Given the description of an element on the screen output the (x, y) to click on. 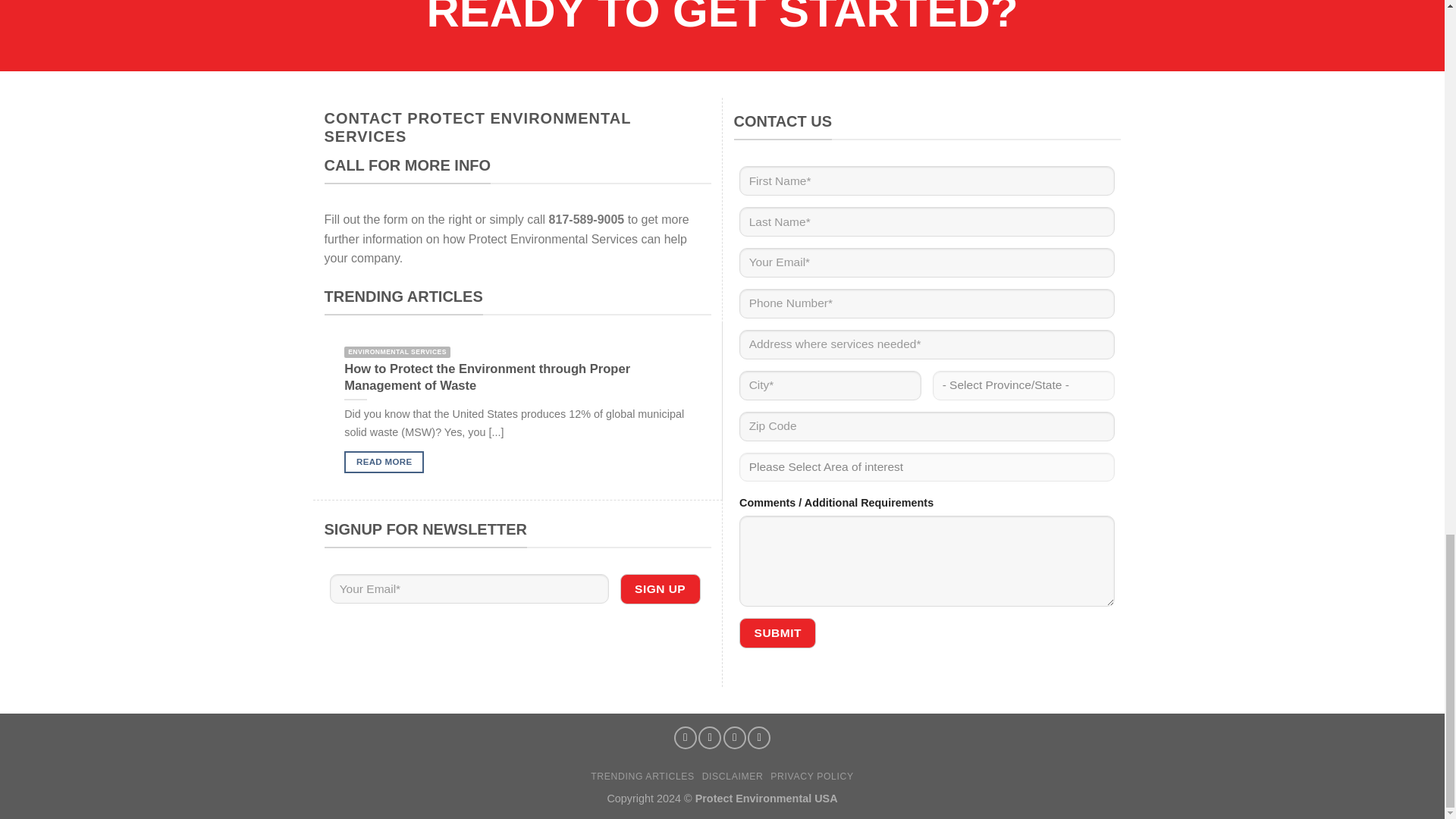
Follow on Facebook (685, 737)
Follow on LinkedIn (759, 737)
Call us (734, 737)
Submit (777, 632)
Sign Up (660, 588)
Send us an email (709, 737)
